Given the description of an element on the screen output the (x, y) to click on. 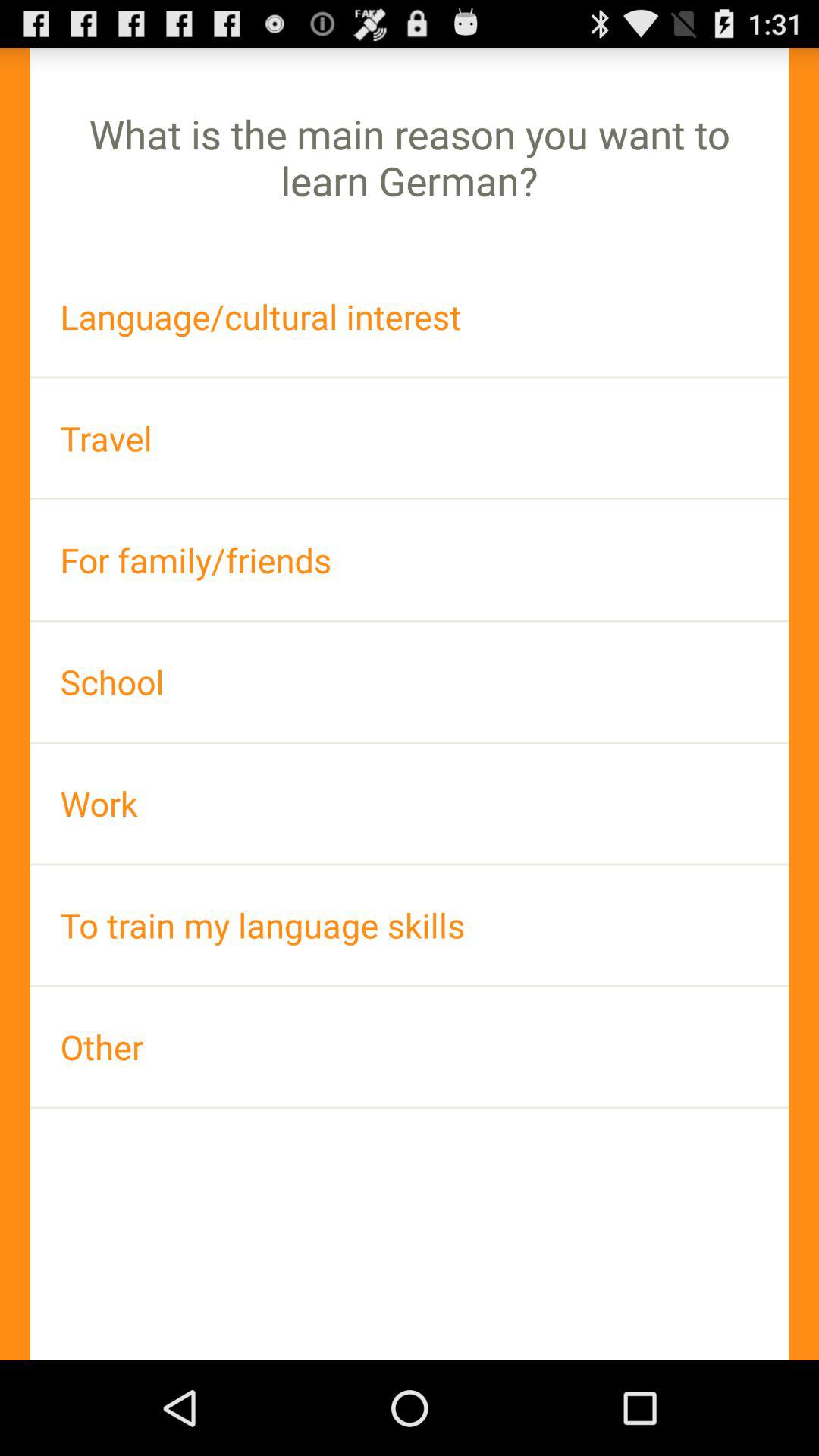
tap icon above work app (409, 681)
